Given the description of an element on the screen output the (x, y) to click on. 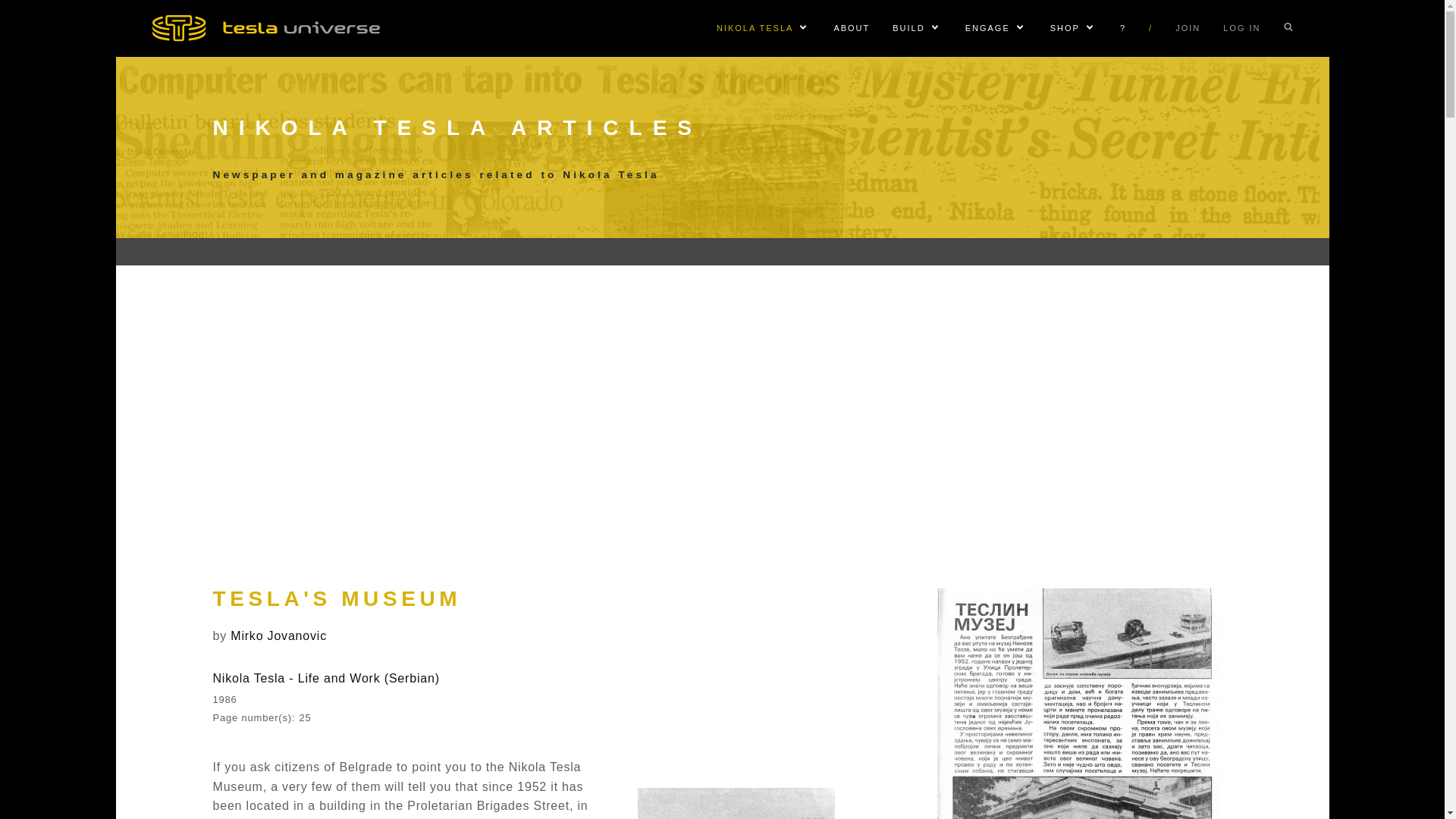
LOG IN (1241, 28)
? (1122, 28)
High voltage builder resources. (908, 28)
SHOP (1064, 28)
JOIN (1186, 28)
NIKOLA TESLA (754, 28)
ABOUT (850, 28)
Tesla coil and high voltage performances. (987, 28)
ENGAGE (987, 28)
BUILD (908, 28)
